Given the description of an element on the screen output the (x, y) to click on. 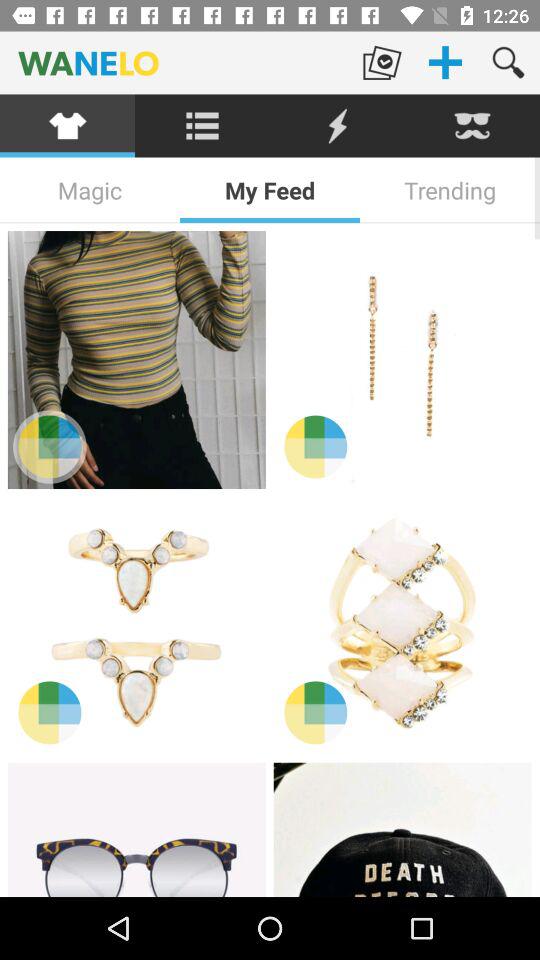
click the item below wanelo (337, 125)
